Given the description of an element on the screen output the (x, y) to click on. 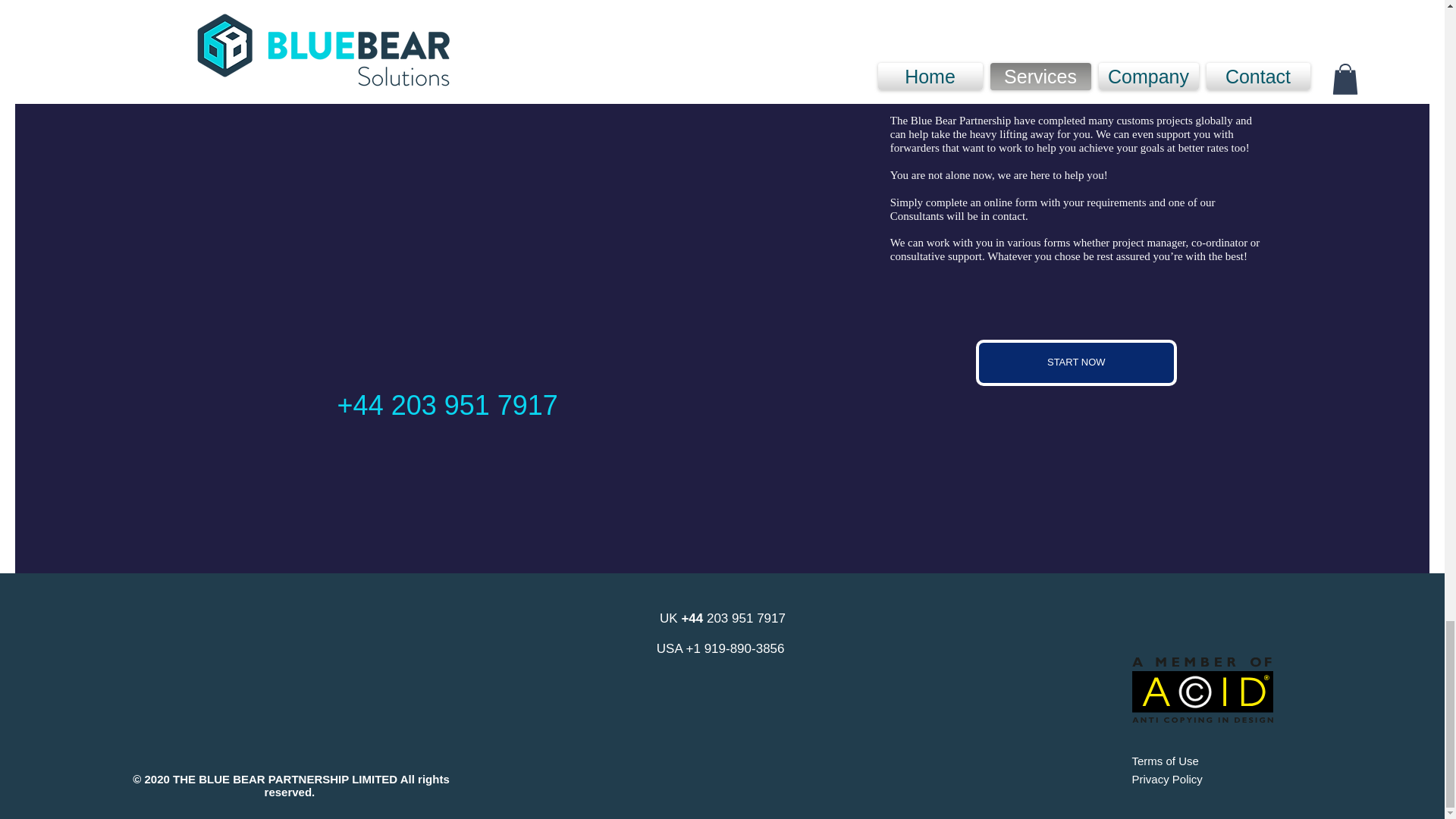
START NOW (1075, 362)
Privacy Policy (1166, 779)
Terms of Use (1164, 760)
